Given the description of an element on the screen output the (x, y) to click on. 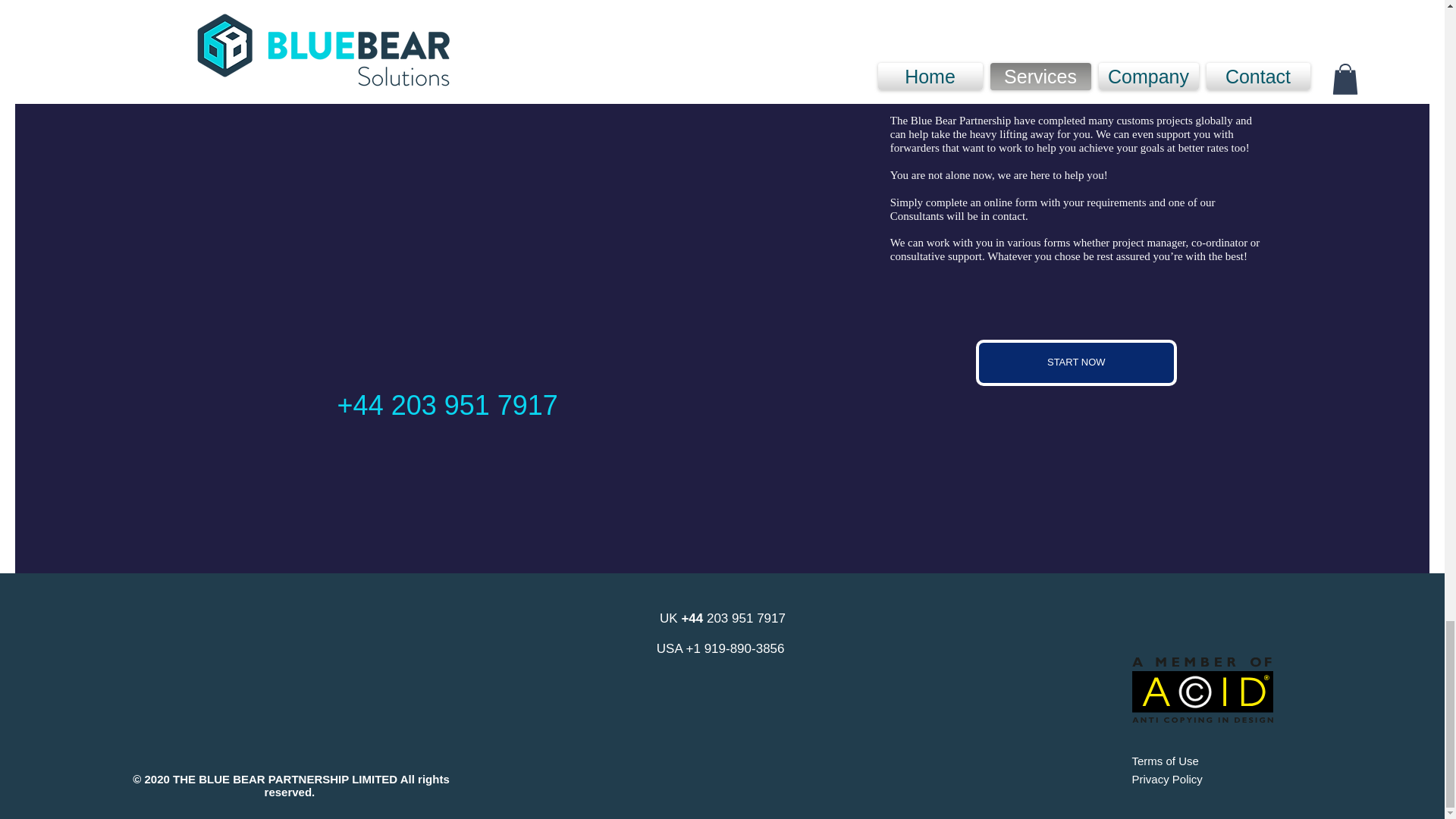
START NOW (1075, 362)
Privacy Policy (1166, 779)
Terms of Use (1164, 760)
